Given the description of an element on the screen output the (x, y) to click on. 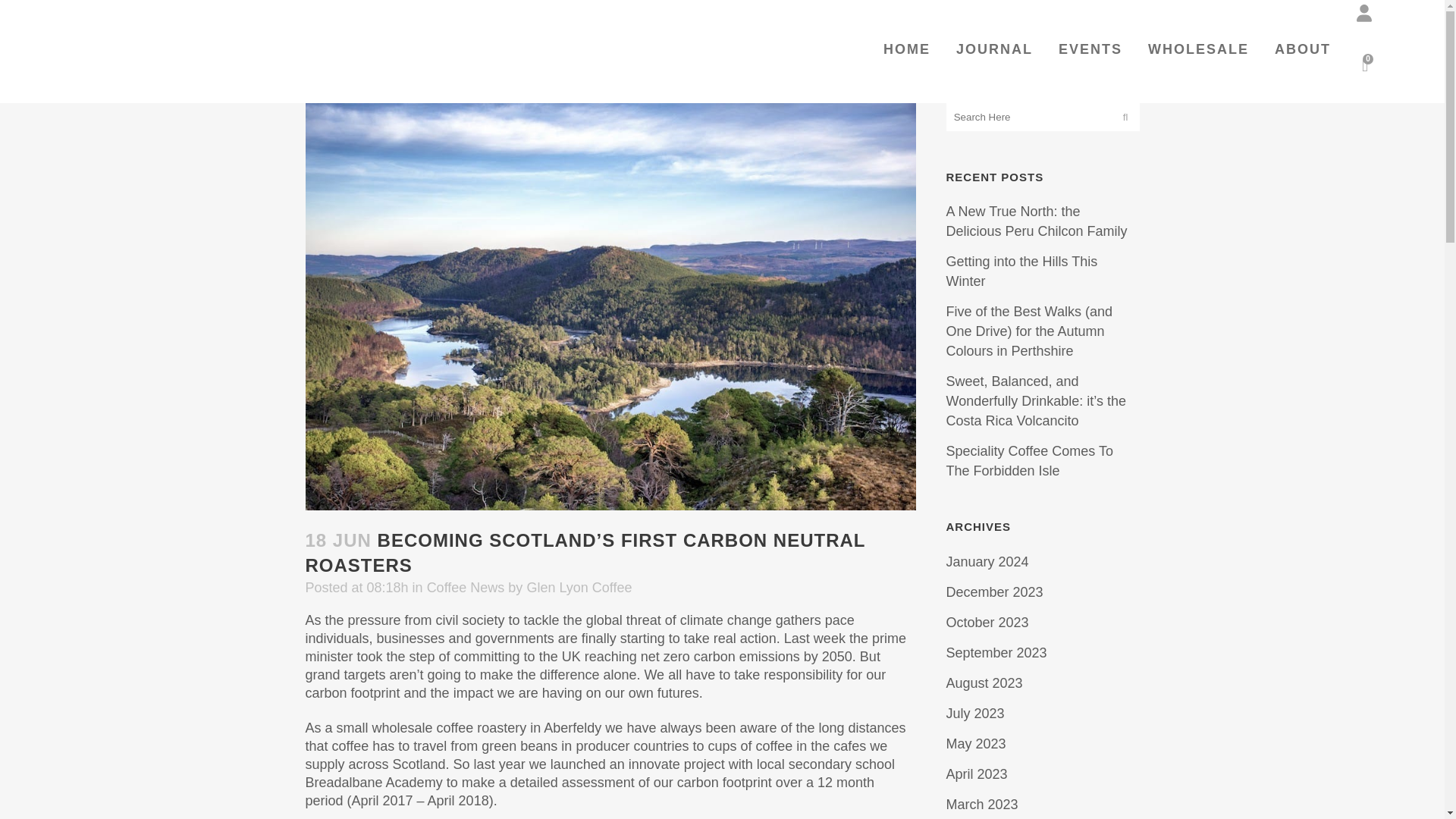
Speciality Coffee Comes To The Forbidden Isle (1029, 460)
JOURNAL (994, 49)
Coffee News (465, 587)
October 2023 (987, 622)
WHOLESALE (1198, 49)
A New True North: the Delicious Peru Chilcon Family (1036, 221)
Getting into the Hills This Winter  (1021, 271)
EVENTS (1090, 49)
Glen Lyon Coffee (578, 587)
December 2023 (994, 591)
